Given the description of an element on the screen output the (x, y) to click on. 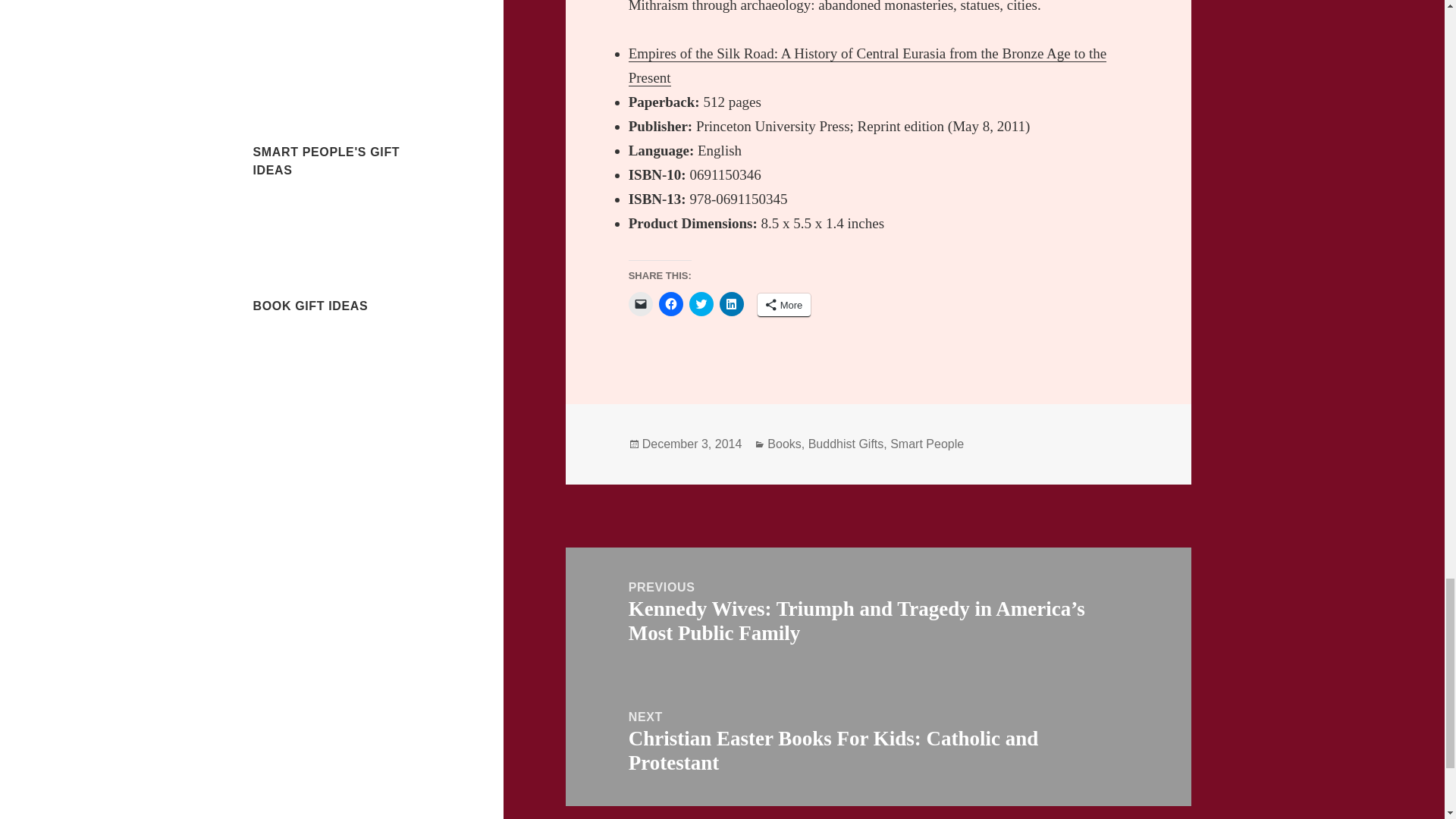
Interesting books (295, 341)
Click to share on LinkedIn (731, 303)
Click to email a link to a friend (640, 303)
Martin Meredith: The State of Africa (345, 7)
Click to share on Facebook (670, 303)
December 3, 2014 (692, 444)
College Gifts and Product recommendations (316, 214)
Click to share on Twitter (700, 303)
More (783, 304)
